Given the description of an element on the screen output the (x, y) to click on. 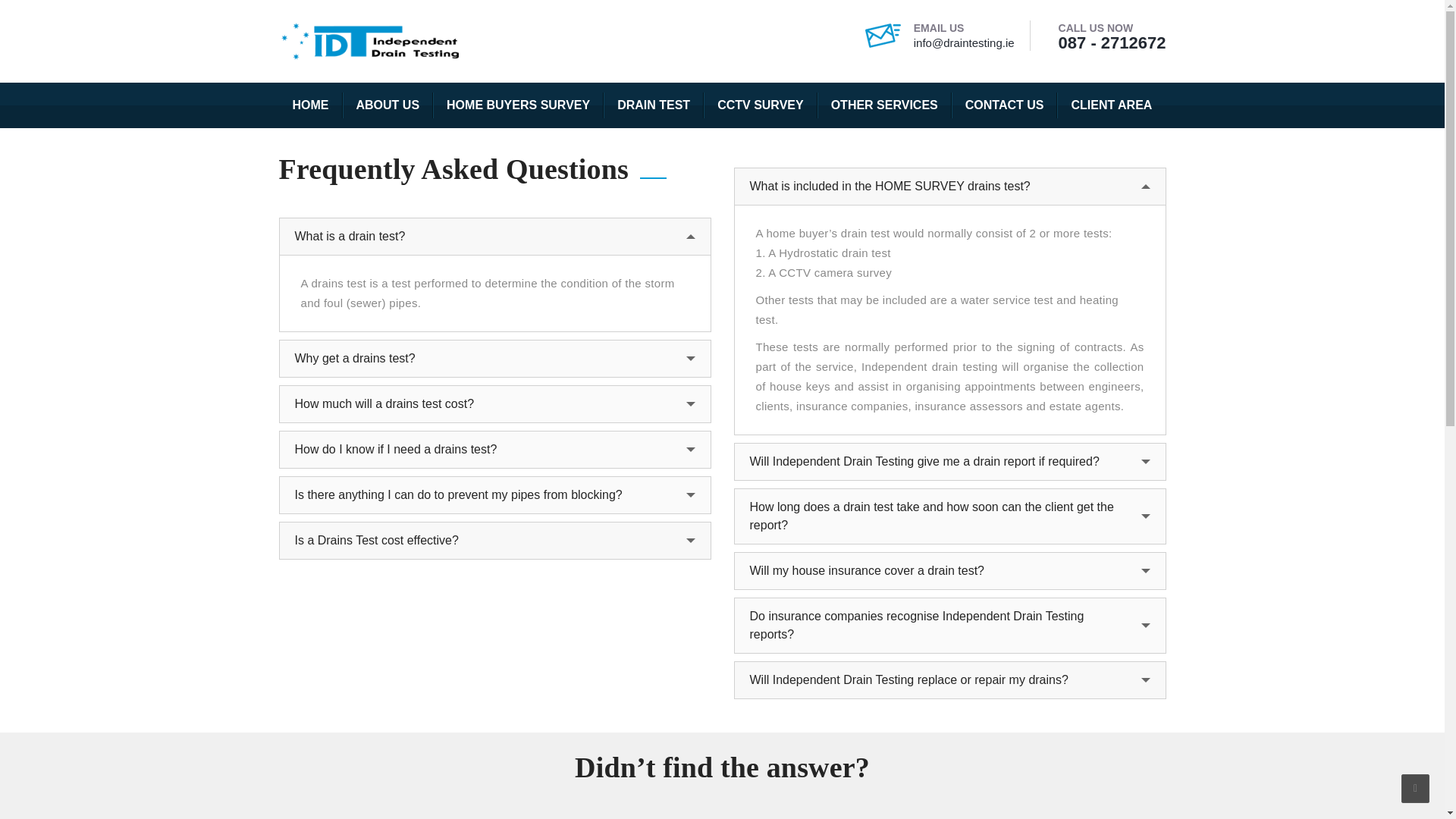
DRAIN TEST (653, 104)
ABOUT US (387, 104)
CCTV SURVEY (759, 104)
HOME BUYERS SURVEY (518, 104)
087 - 2712672 (1112, 42)
HOME (310, 104)
OTHER SERVICES (884, 104)
CONTACT US (1005, 104)
CLIENT AREA (1111, 104)
